Given the description of an element on the screen output the (x, y) to click on. 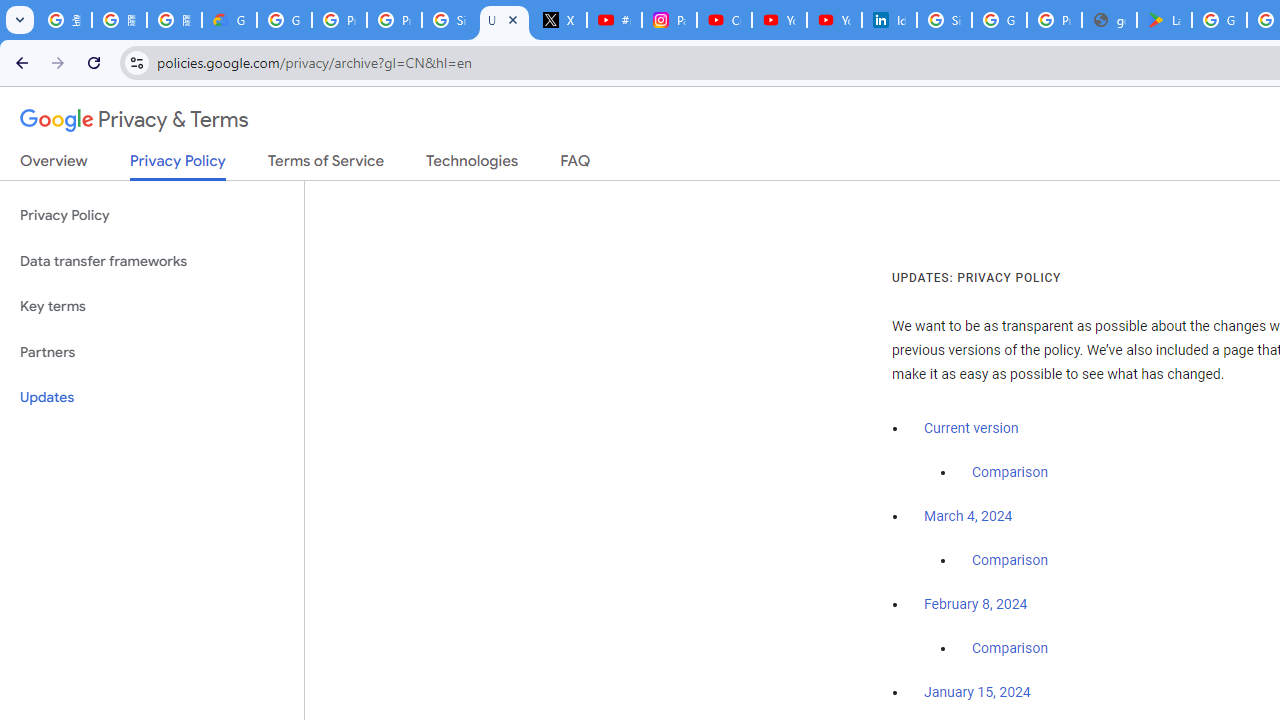
#nbabasketballhighlights - YouTube (614, 20)
Google Cloud Privacy Notice (229, 20)
Current version (971, 428)
Last Shelter: Survival - Apps on Google Play (1163, 20)
Sign in - Google Accounts (943, 20)
Privacy Help Center - Policies Help (339, 20)
February 8, 2024 (975, 605)
